Given the description of an element on the screen output the (x, y) to click on. 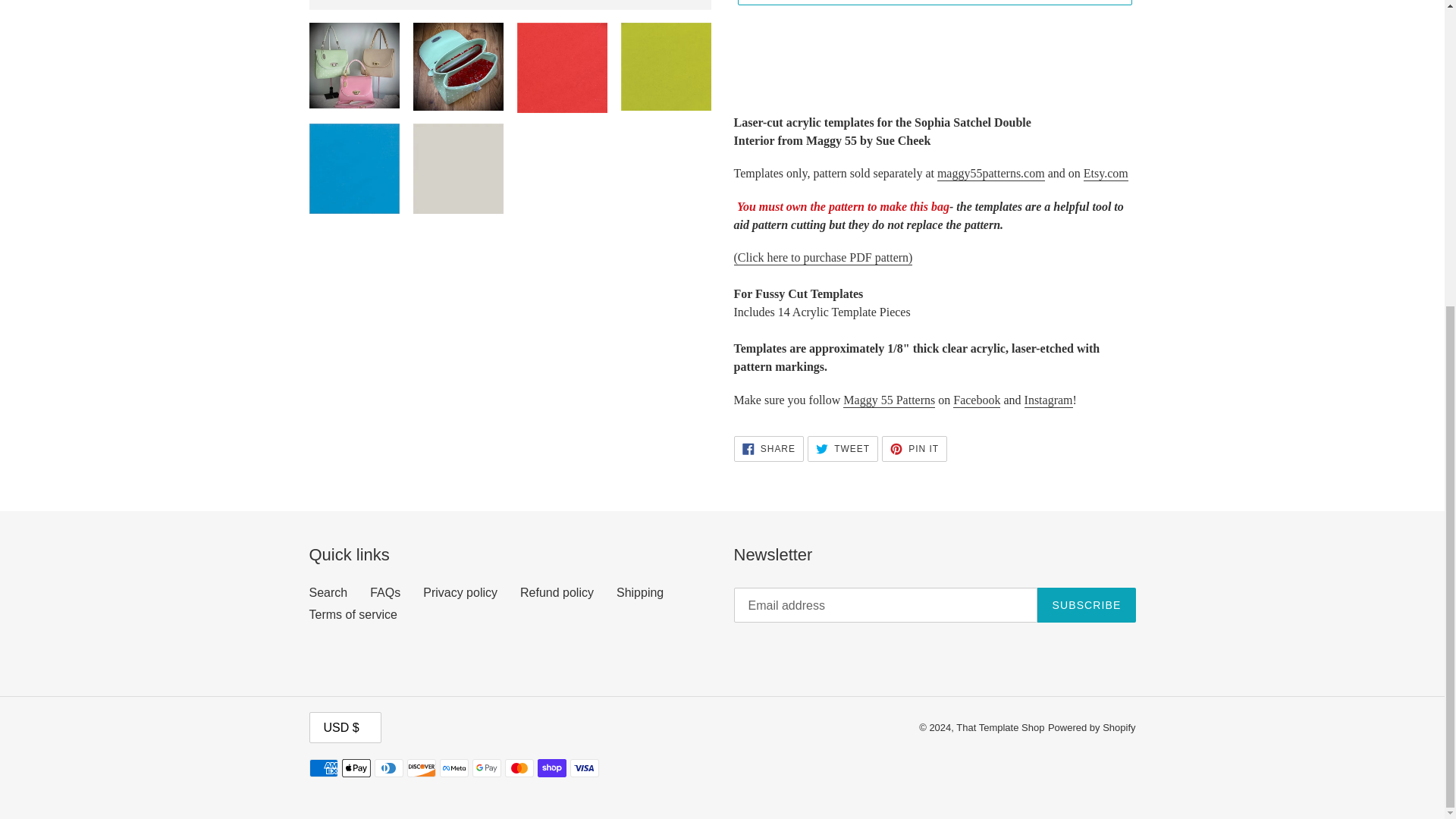
ADD TO CART (933, 2)
Facebook (976, 400)
Maggy 55 Patterns (888, 400)
Instagram (1049, 400)
maggy55patterns.com (991, 173)
Etsy.com (1105, 173)
